Given the description of an element on the screen output the (x, y) to click on. 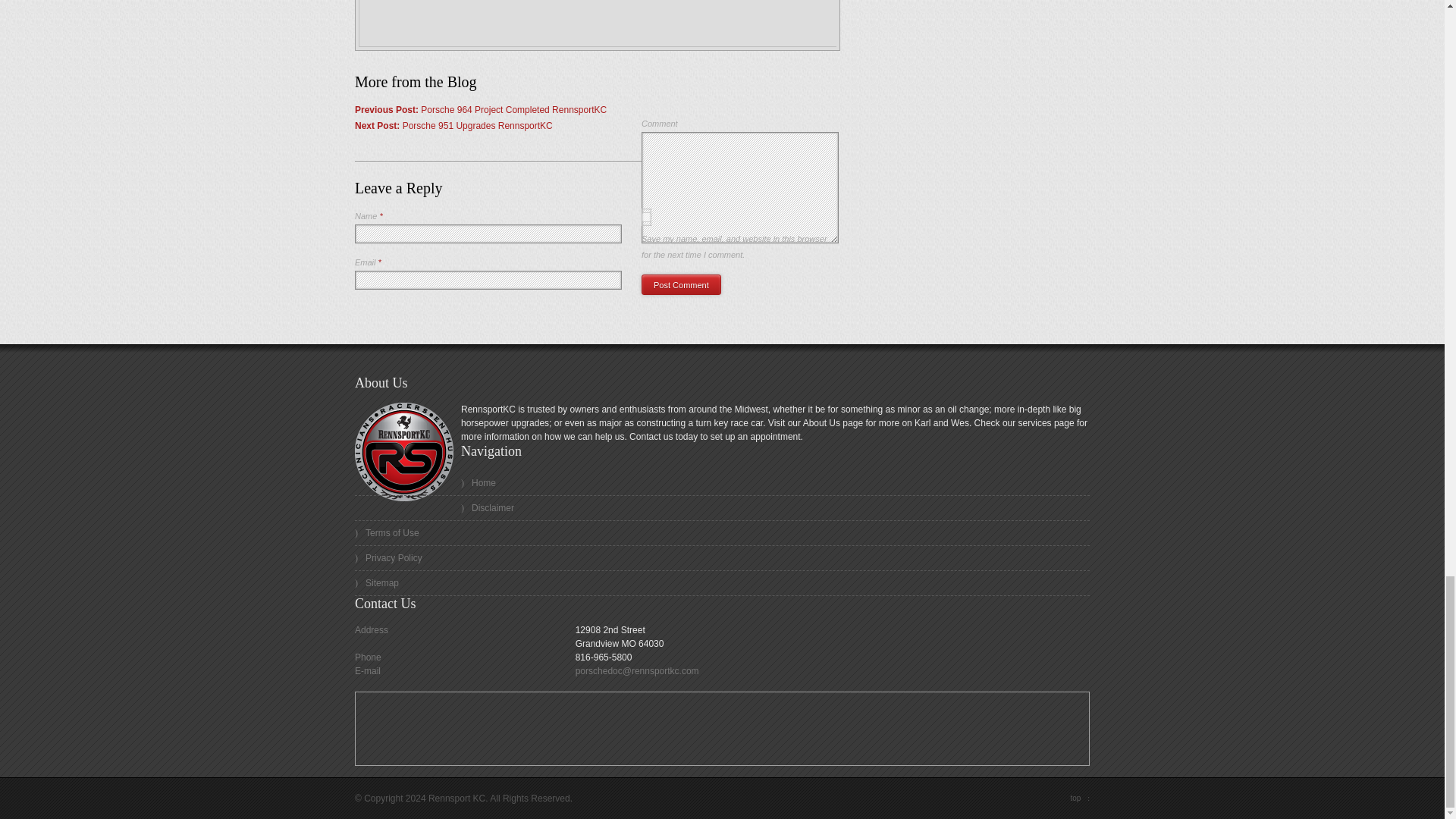
Next Post: Porsche 951 Upgrades RennsportKC (454, 125)
Terms of Use (722, 533)
Home (722, 483)
Disclaimer (722, 508)
Previous Post: Porsche 964 Project Completed RennsportKC (481, 109)
Post Comment (681, 284)
Privacy Policy (722, 558)
top : (1079, 798)
Sitemap (722, 583)
Post Comment (681, 284)
